Given the description of an element on the screen output the (x, y) to click on. 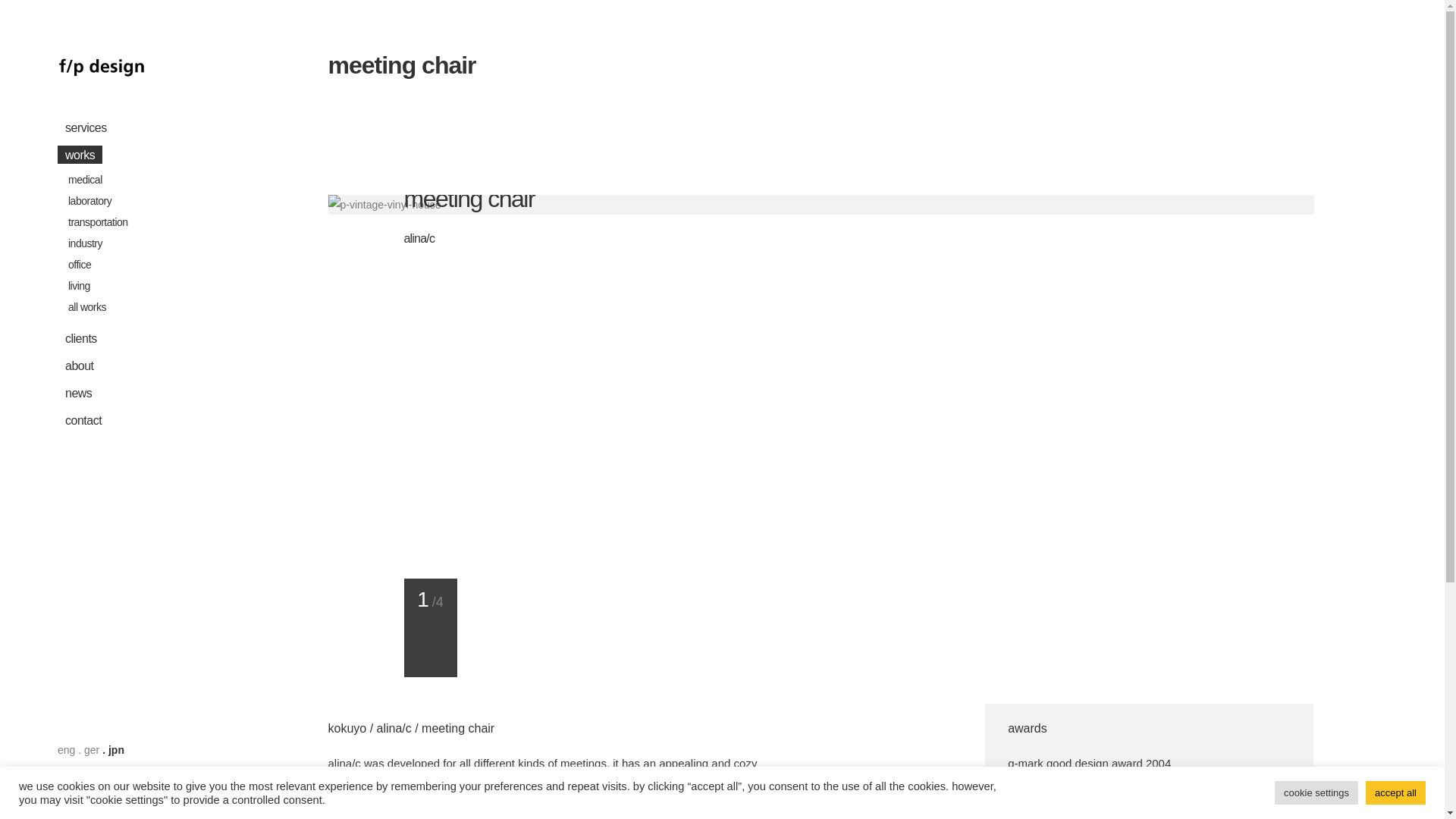
contact (141, 420)
laboratory (151, 200)
about (141, 366)
works (141, 154)
all works (151, 306)
services (141, 127)
ger (91, 749)
transportation (151, 221)
living (151, 285)
jpn (115, 749)
